Given the description of an element on the screen output the (x, y) to click on. 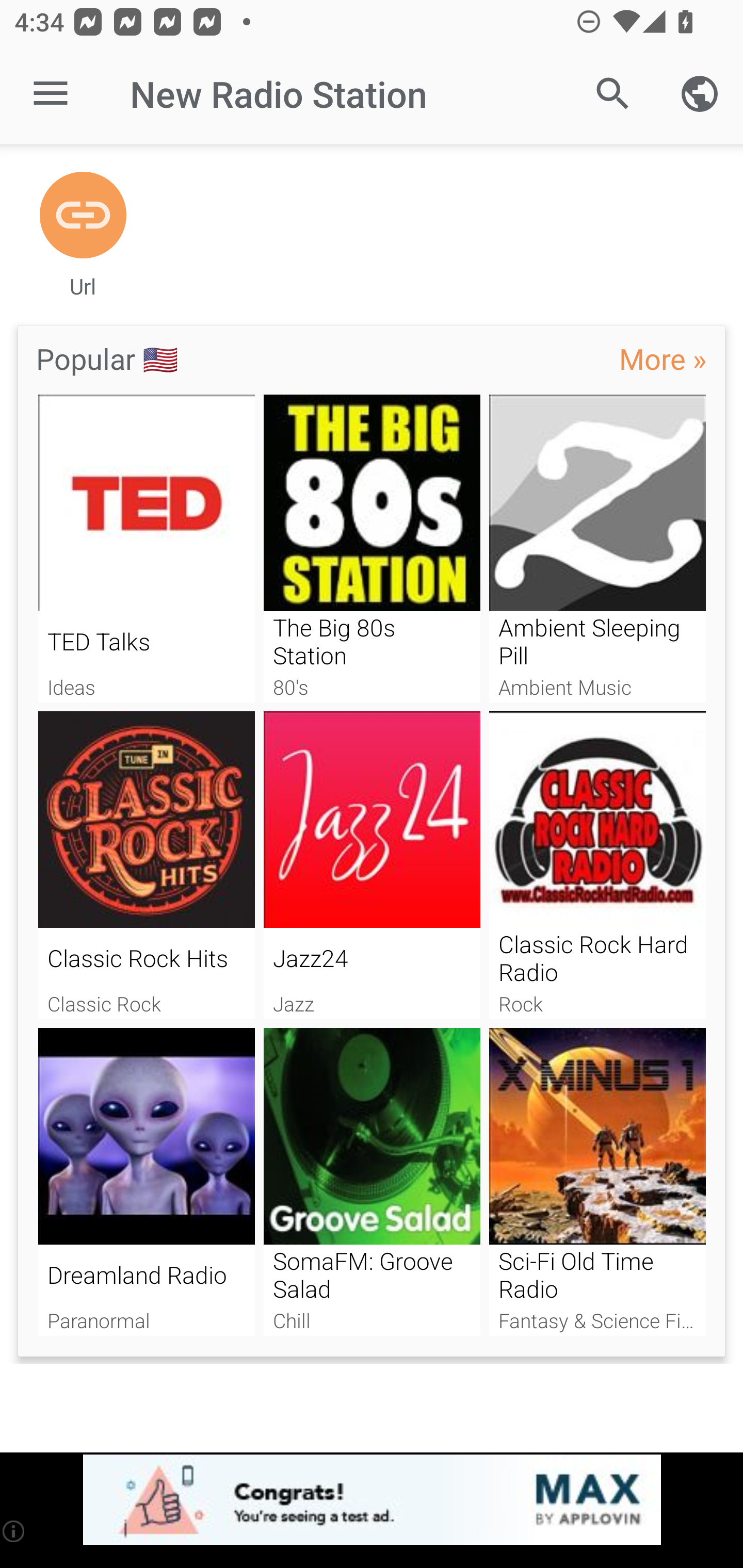
Open navigation sidebar (50, 93)
Search (612, 93)
Podcast languages (699, 93)
RSS (82, 215)
More » (662, 357)
TED Talks Ideas (145, 548)
The Big 80s Station 80's (371, 548)
Ambient Sleeping Pill Ambient Music (596, 548)
Classic Rock Hits Classic Rock (145, 865)
Jazz24 Jazz (371, 865)
Classic Rock Hard Radio Rock (596, 865)
Dreamland Radio Paranormal (145, 1181)
SomaFM: Groove Salad Chill (371, 1181)
app-monetization (371, 1500)
(i) (14, 1531)
